Given the description of an element on the screen output the (x, y) to click on. 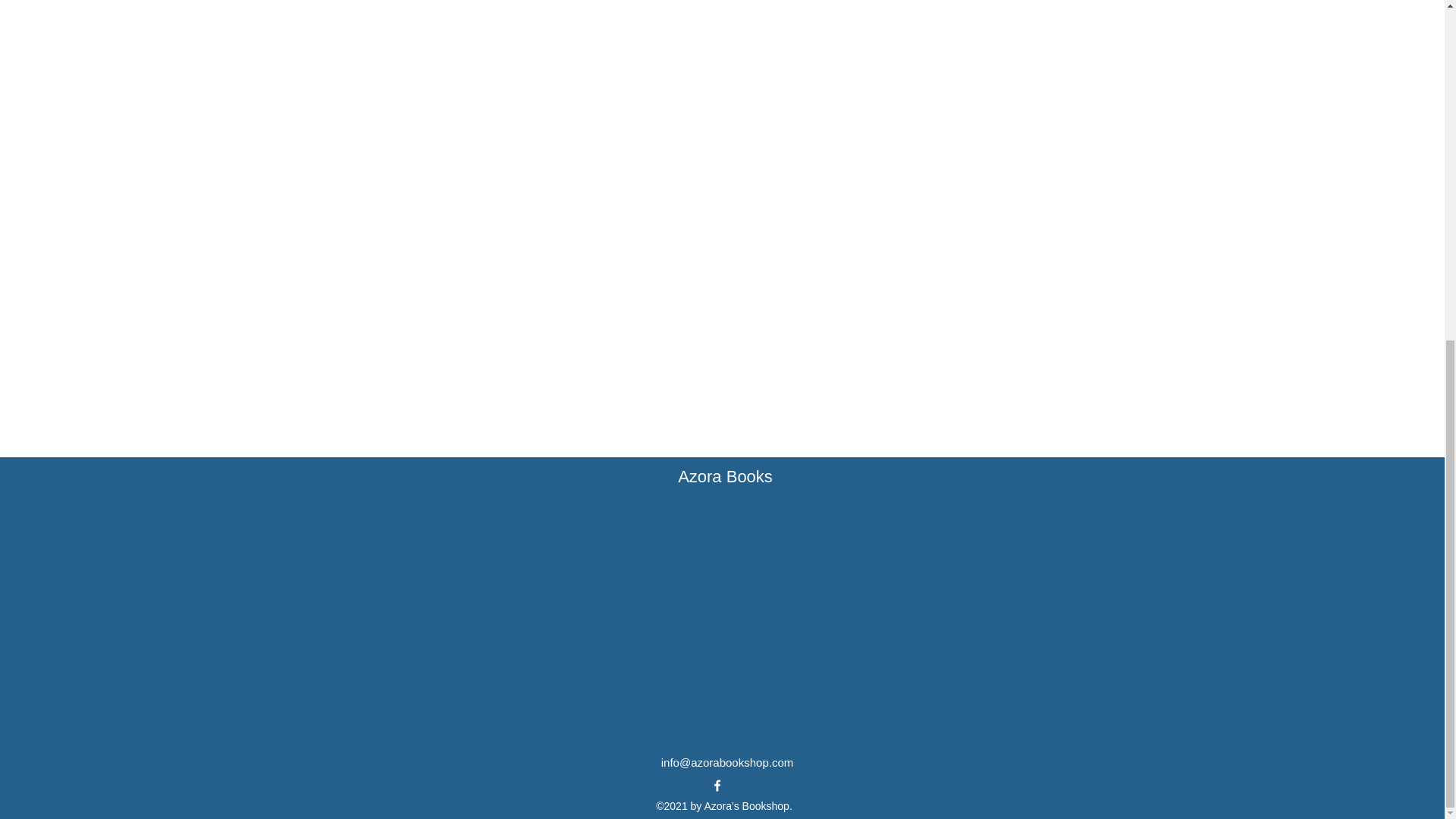
Azora Books (725, 476)
